Given the description of an element on the screen output the (x, y) to click on. 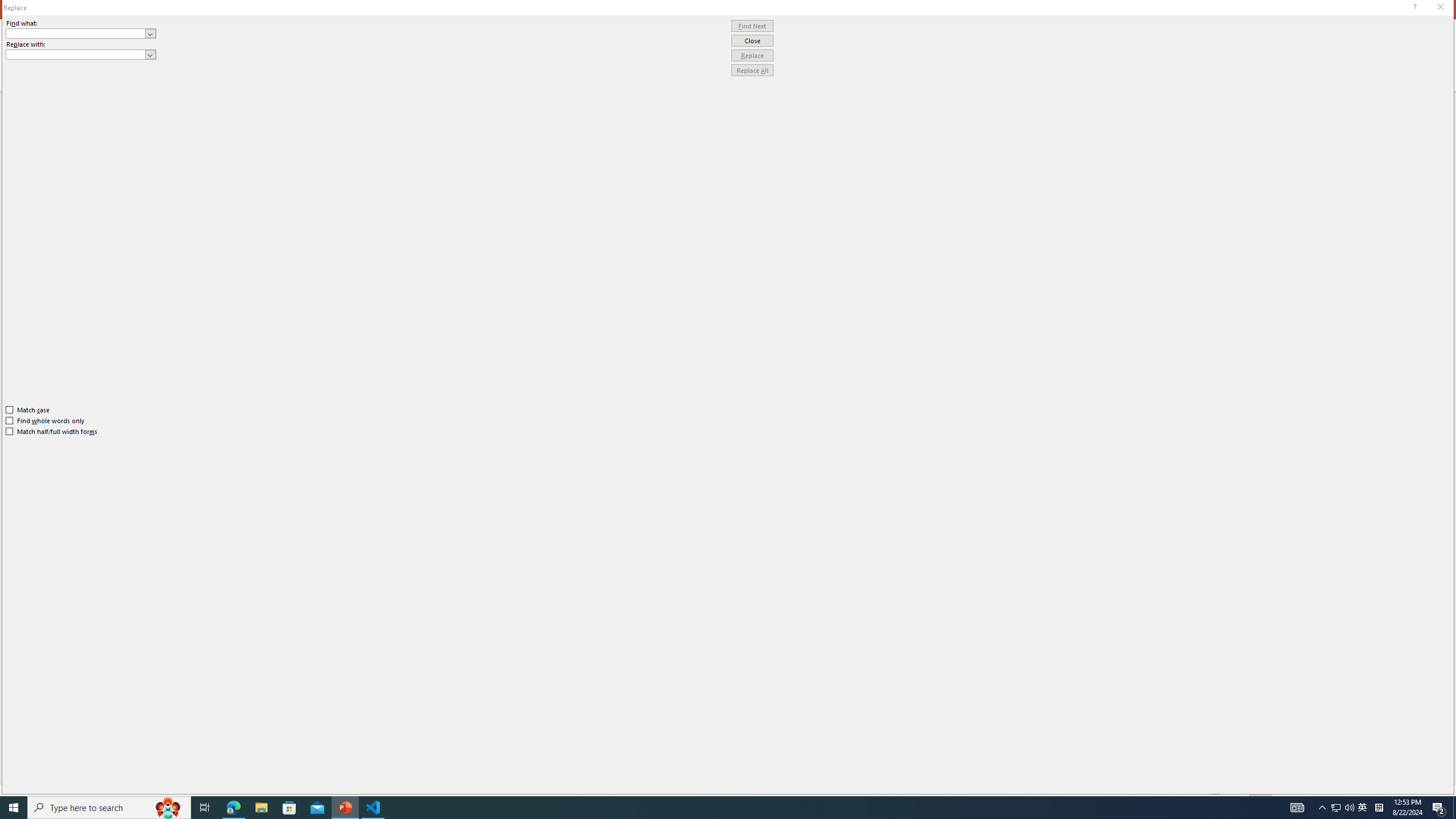
Replace with (75, 53)
Replace with (80, 54)
Design Idea (1366, 743)
